Given the description of an element on the screen output the (x, y) to click on. 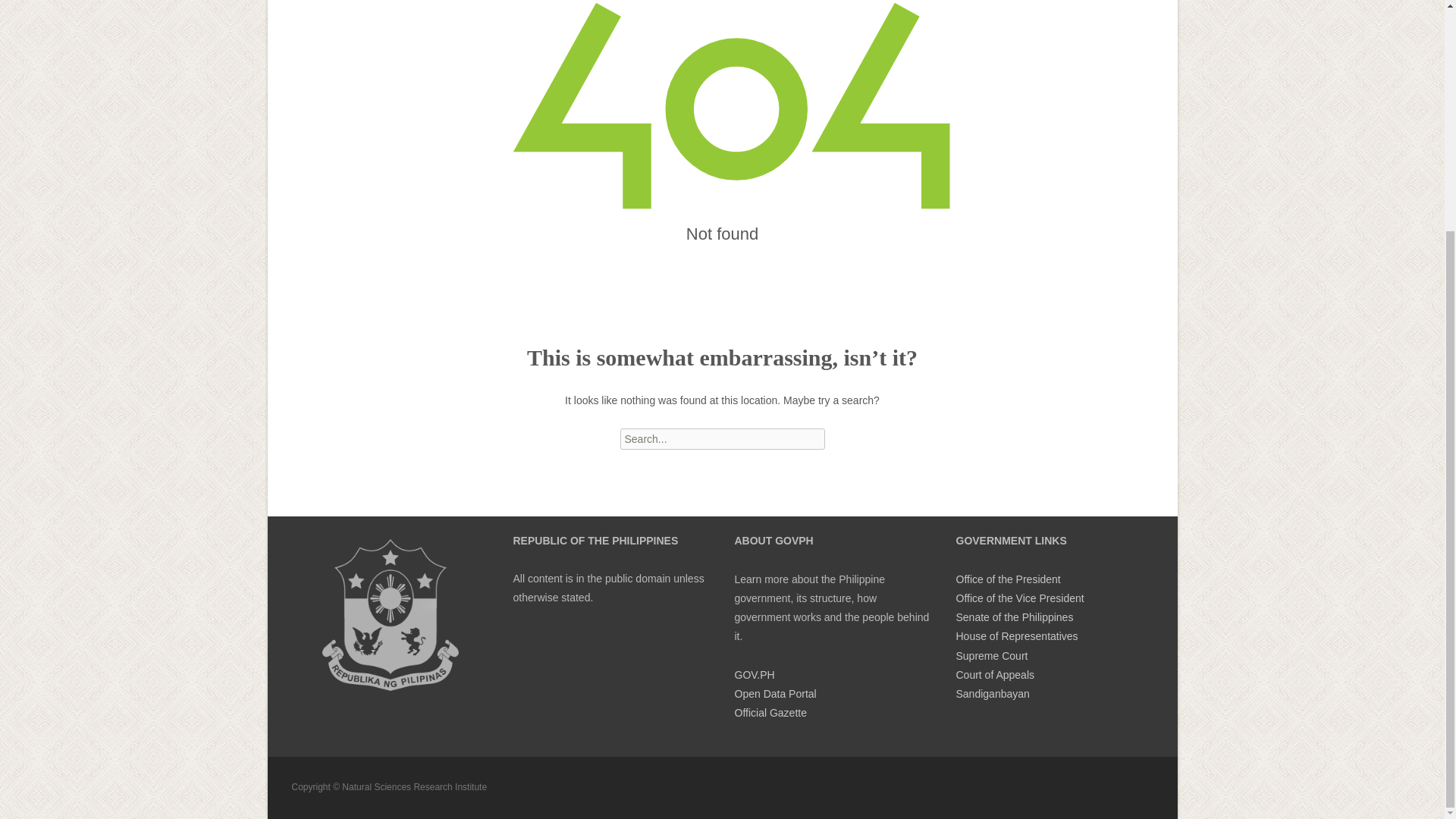
Office of the President (1007, 579)
Senate of the Philippines (1014, 616)
Search for: (722, 438)
Official Gazette (769, 712)
Court of Appeals (994, 674)
Sandiganbayan (992, 693)
Open Data Portal (774, 693)
Supreme Court (991, 655)
Office of the Vice President (1019, 598)
House of Representatives (1016, 635)
GOV.PH (753, 674)
